Given the description of an element on the screen output the (x, y) to click on. 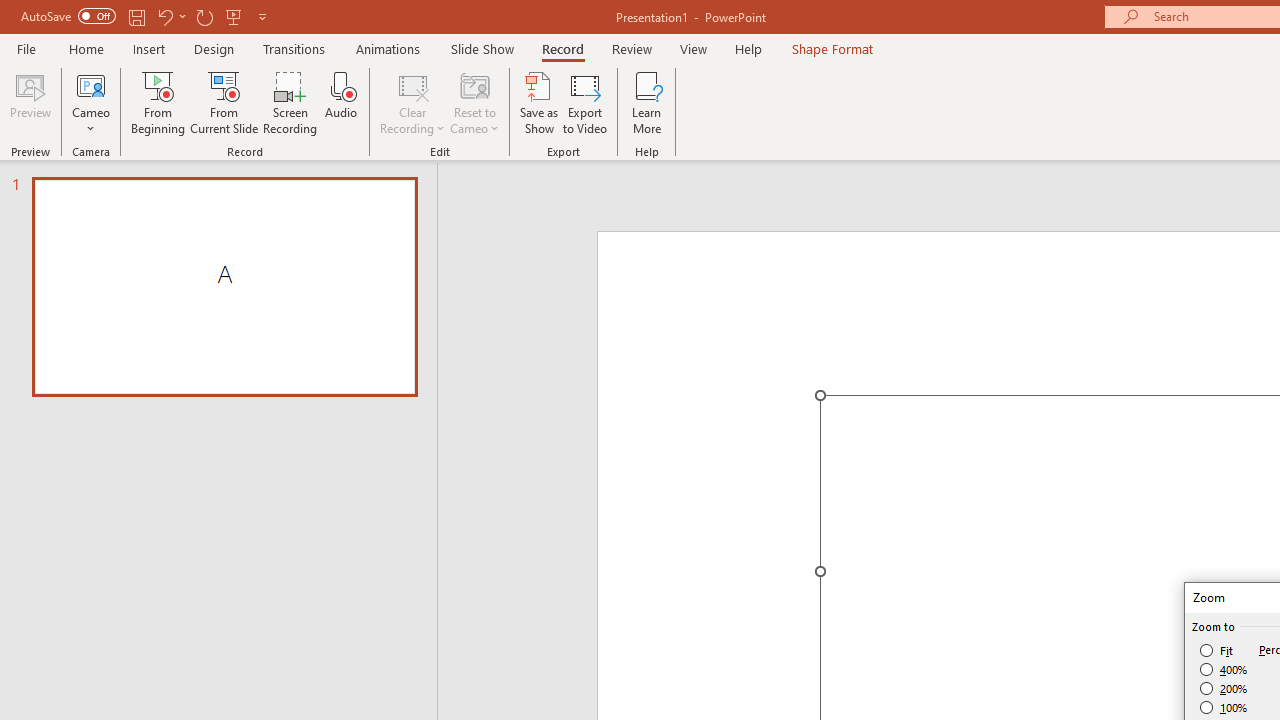
400% (1224, 669)
